Given the description of an element on the screen output the (x, y) to click on. 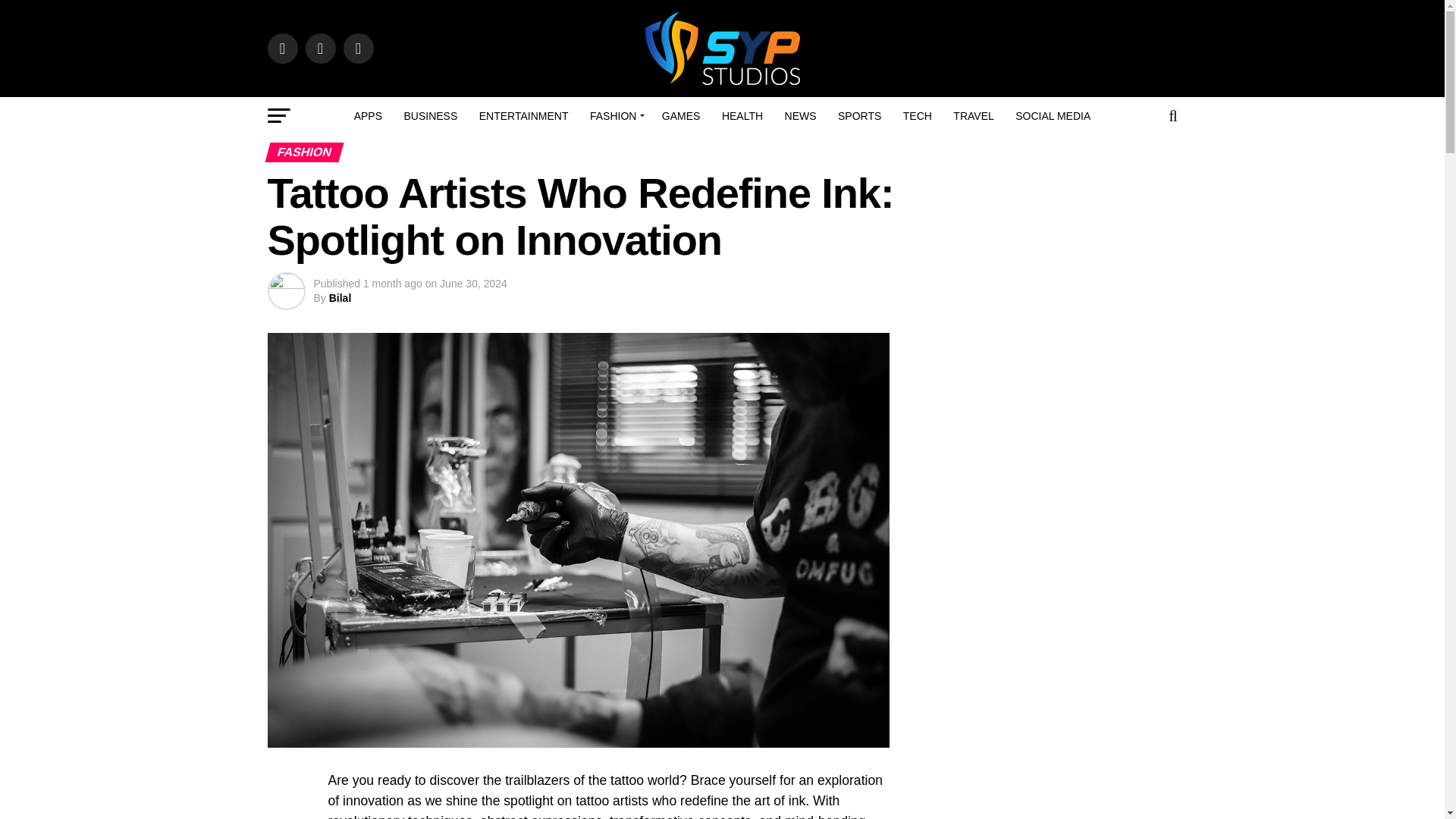
APPS (368, 116)
ENTERTAINMENT (524, 116)
GAMES (681, 116)
SPORTS (858, 116)
Posts by Bilal (340, 297)
BUSINESS (429, 116)
Bilal (340, 297)
TRAVEL (973, 116)
TECH (916, 116)
NEWS (800, 116)
